Given the description of an element on the screen output the (x, y) to click on. 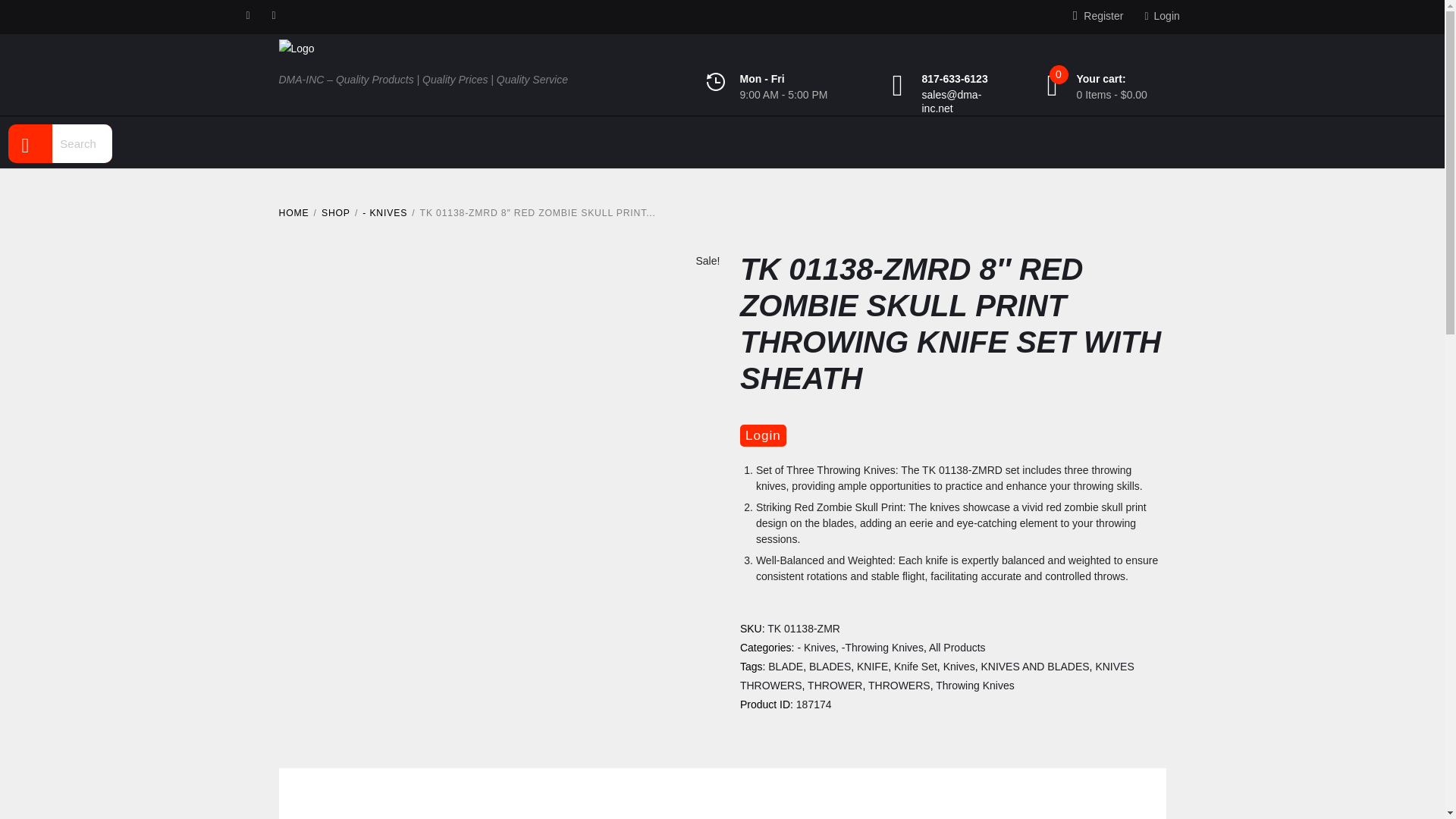
Login (1161, 16)
Register (1098, 16)
Open search (30, 140)
817-633-6123 (954, 78)
